Given the description of an element on the screen output the (x, y) to click on. 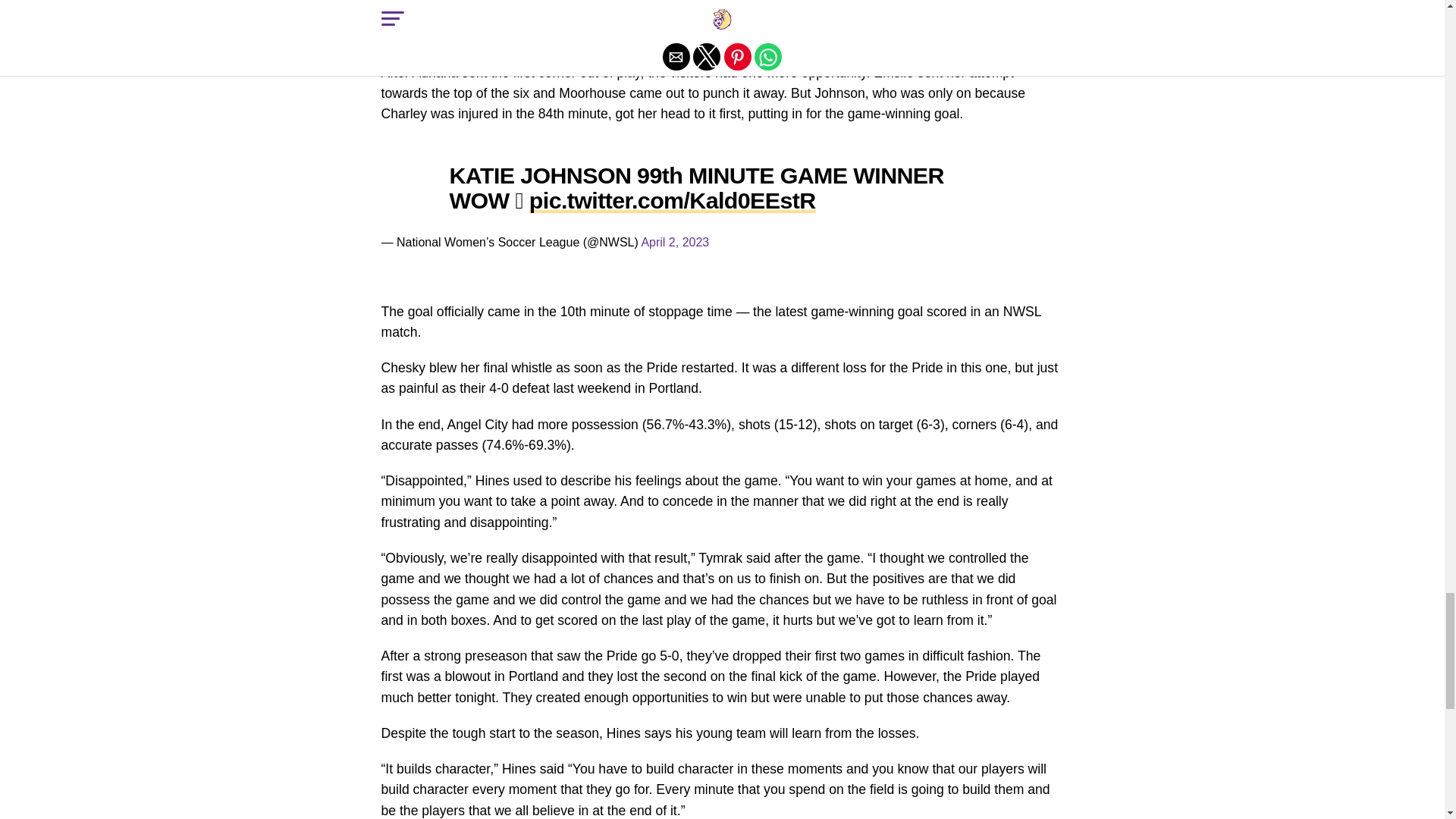
April 2, 2023 (674, 241)
